Given the description of an element on the screen output the (x, y) to click on. 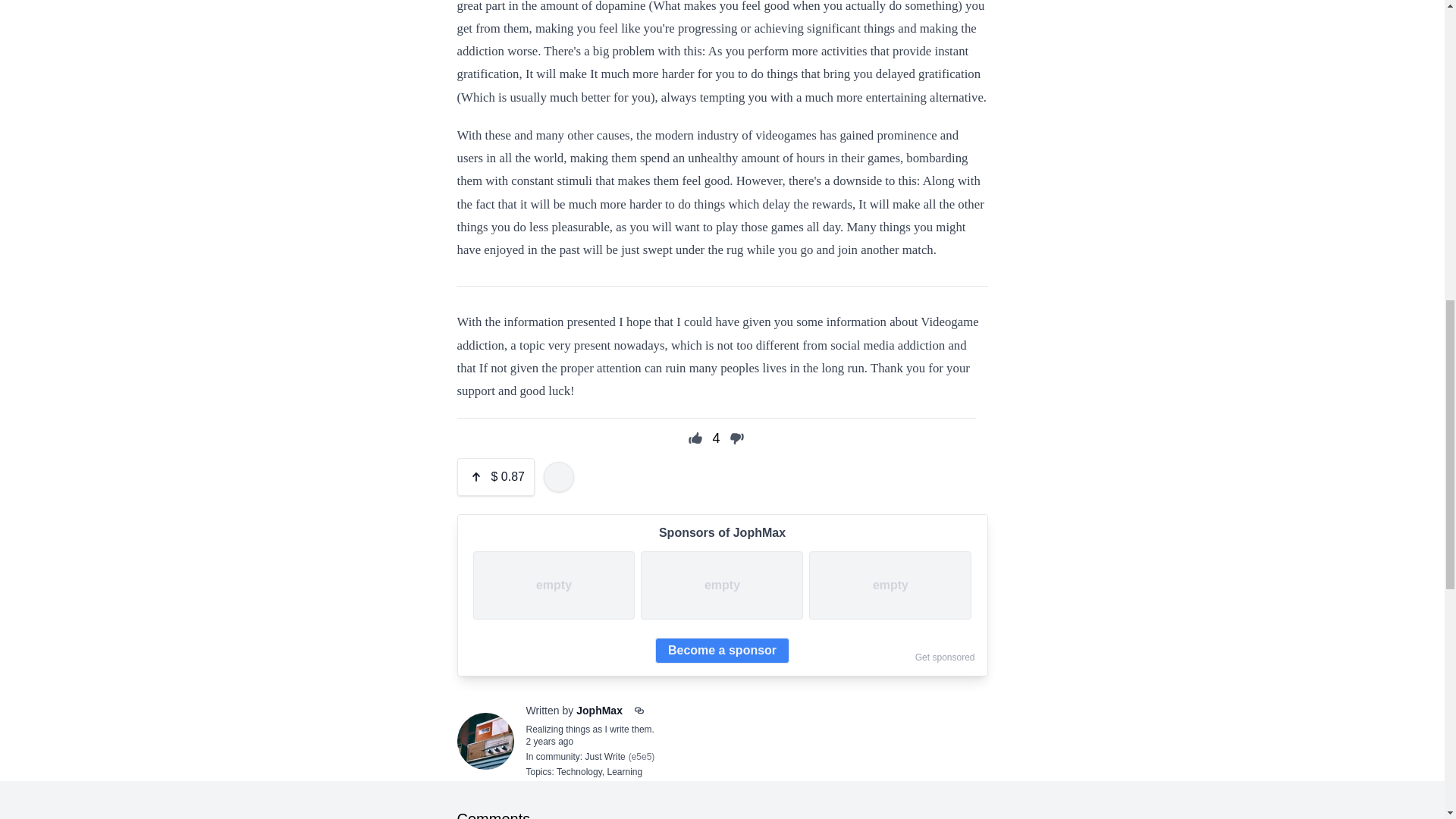
Get sponsored (945, 656)
2022-08-05 04:24:39 (549, 741)
community (557, 756)
Become a sponsor (722, 650)
JophMax (599, 710)
Technology (579, 771)
Learning (624, 771)
